Given the description of an element on the screen output the (x, y) to click on. 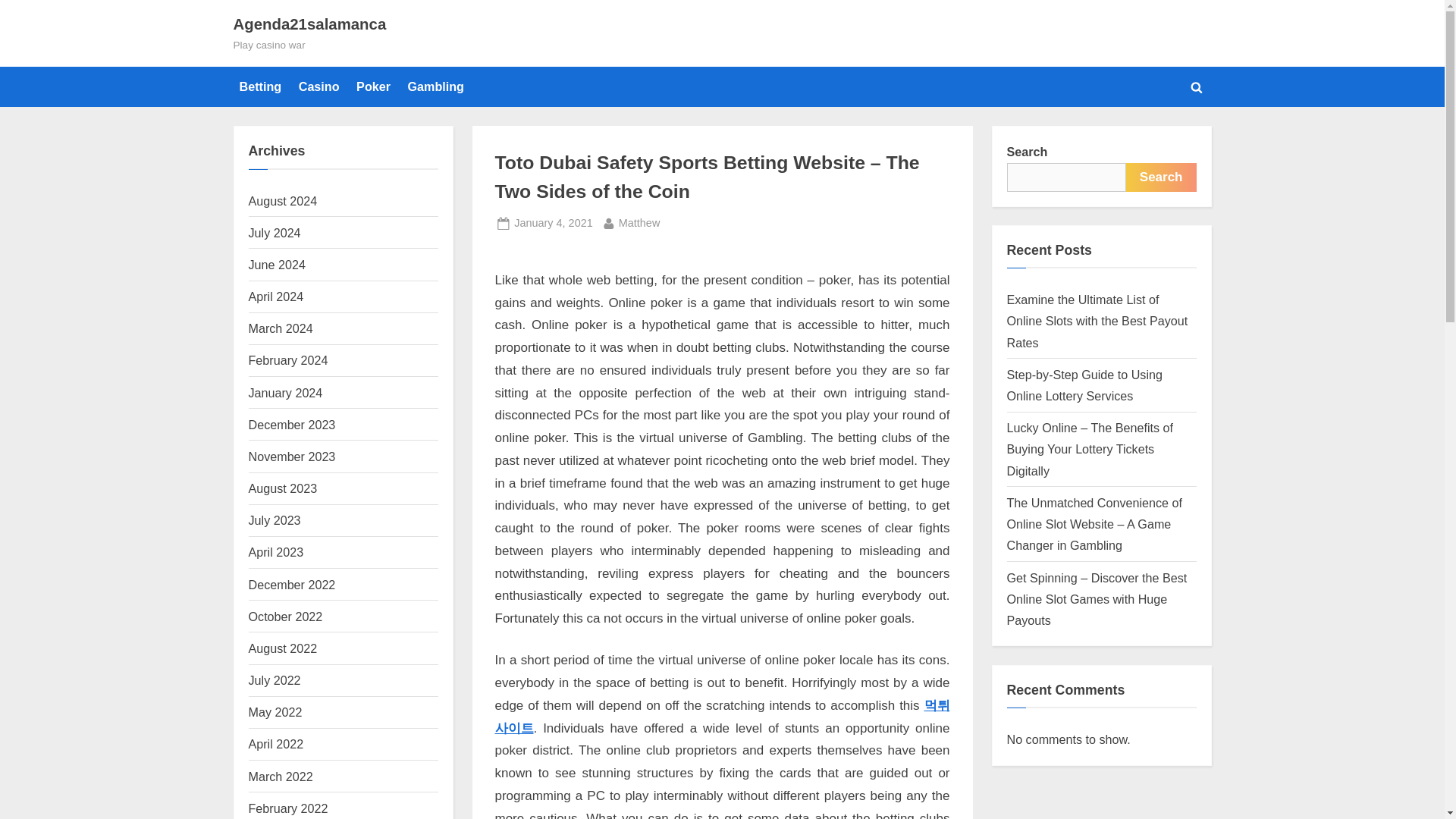
November 2023 (292, 456)
April 2024 (276, 296)
April 2023 (276, 551)
Toggle search form (1196, 87)
Agenda21salamanca (309, 23)
August 2022 (552, 222)
December 2022 (282, 648)
July 2022 (292, 584)
August 2023 (274, 680)
